Given the description of an element on the screen output the (x, y) to click on. 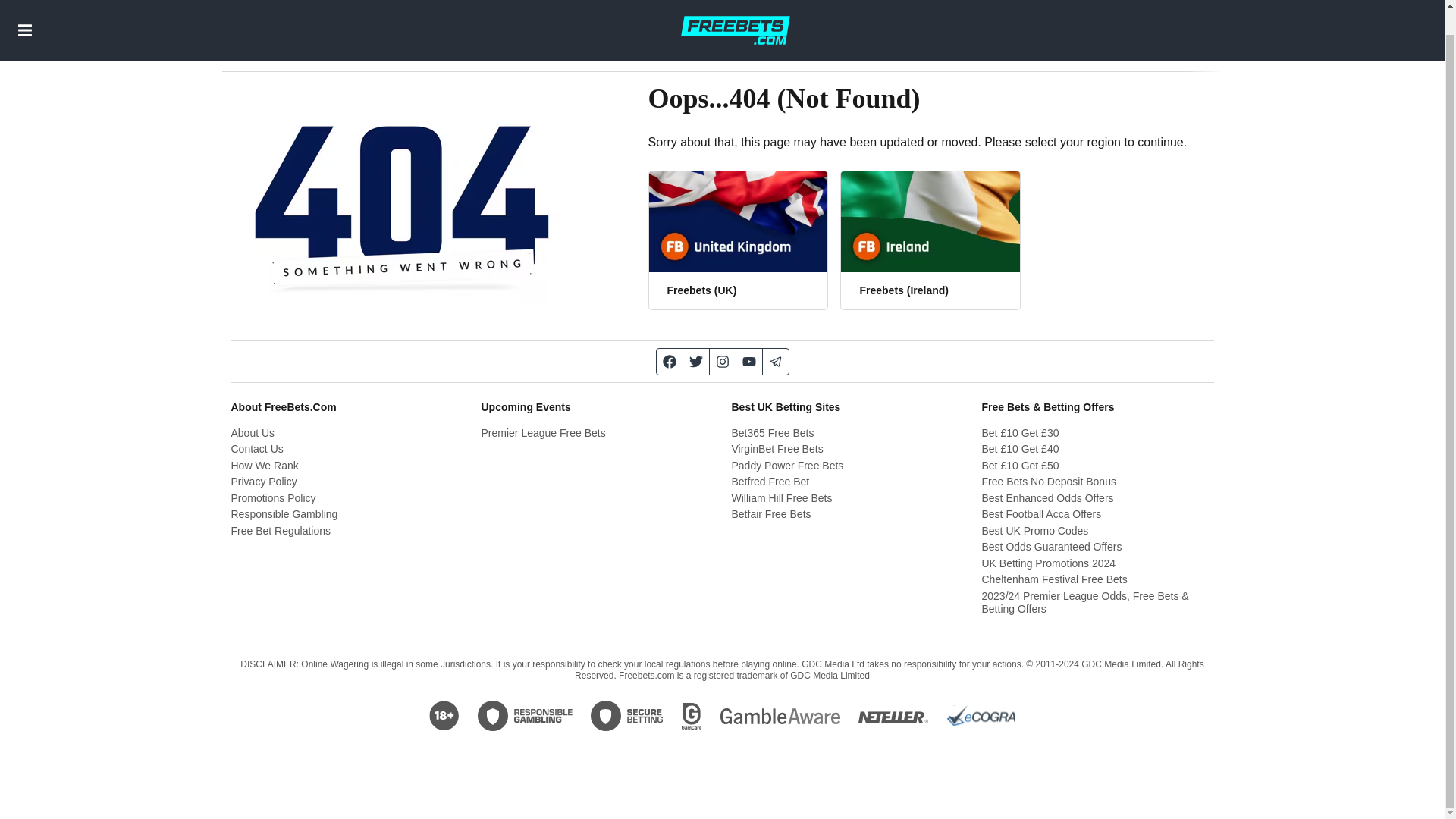
Facebook page (669, 361)
Telegram (775, 361)
Twitter feed (695, 361)
FreeBets Logo (735, 16)
Youtube page (748, 361)
Instagram page (723, 361)
